Given the description of an element on the screen output the (x, y) to click on. 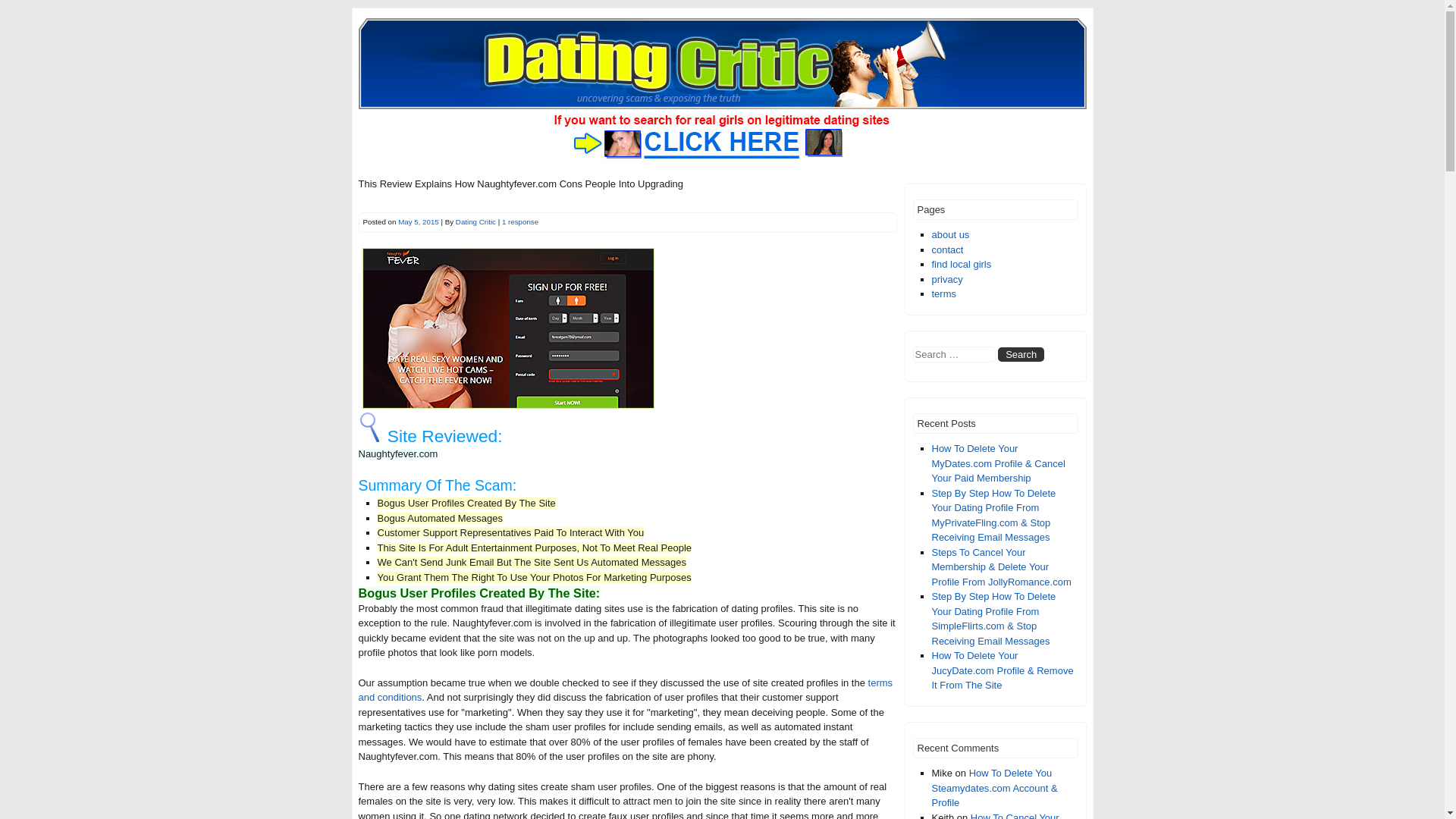
1 response (520, 221)
Search (1020, 354)
find local girls (961, 264)
Search (1020, 354)
Dating Critic (475, 221)
about us (950, 234)
terms and conditions (625, 690)
May 5, 2015 (418, 221)
Search (1020, 354)
contact (946, 249)
privacy (946, 279)
terms (943, 293)
